Given the description of an element on the screen output the (x, y) to click on. 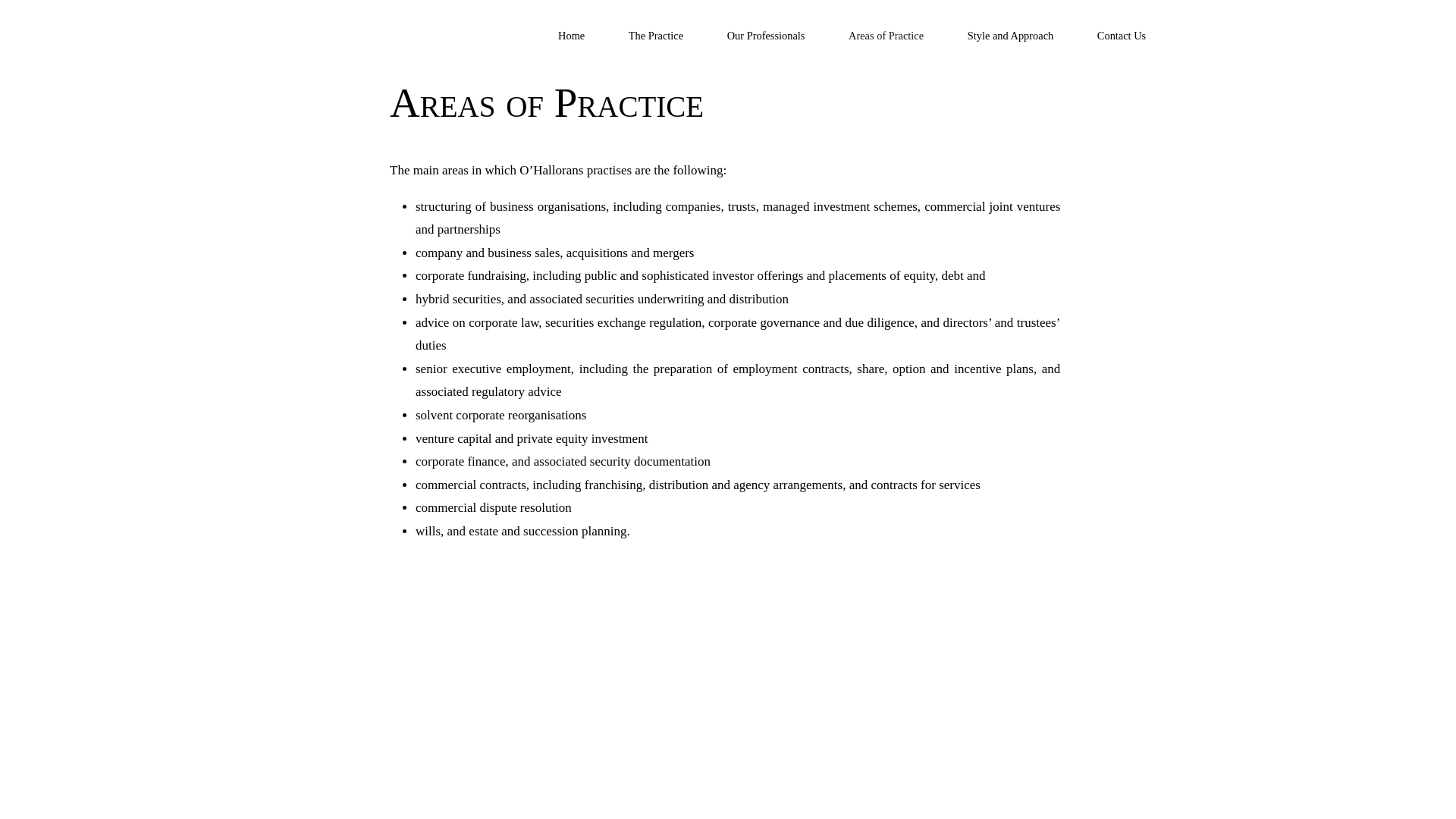
O'HALLORANS LAWYERS Element type: text (363, 54)
Our Professionals Element type: text (765, 35)
Contact Us Element type: text (1121, 35)
Home Element type: text (571, 35)
The Practice Element type: text (655, 35)
Style and Approach Element type: text (1010, 35)
Areas of Practice Element type: text (885, 35)
